Given the description of an element on the screen output the (x, y) to click on. 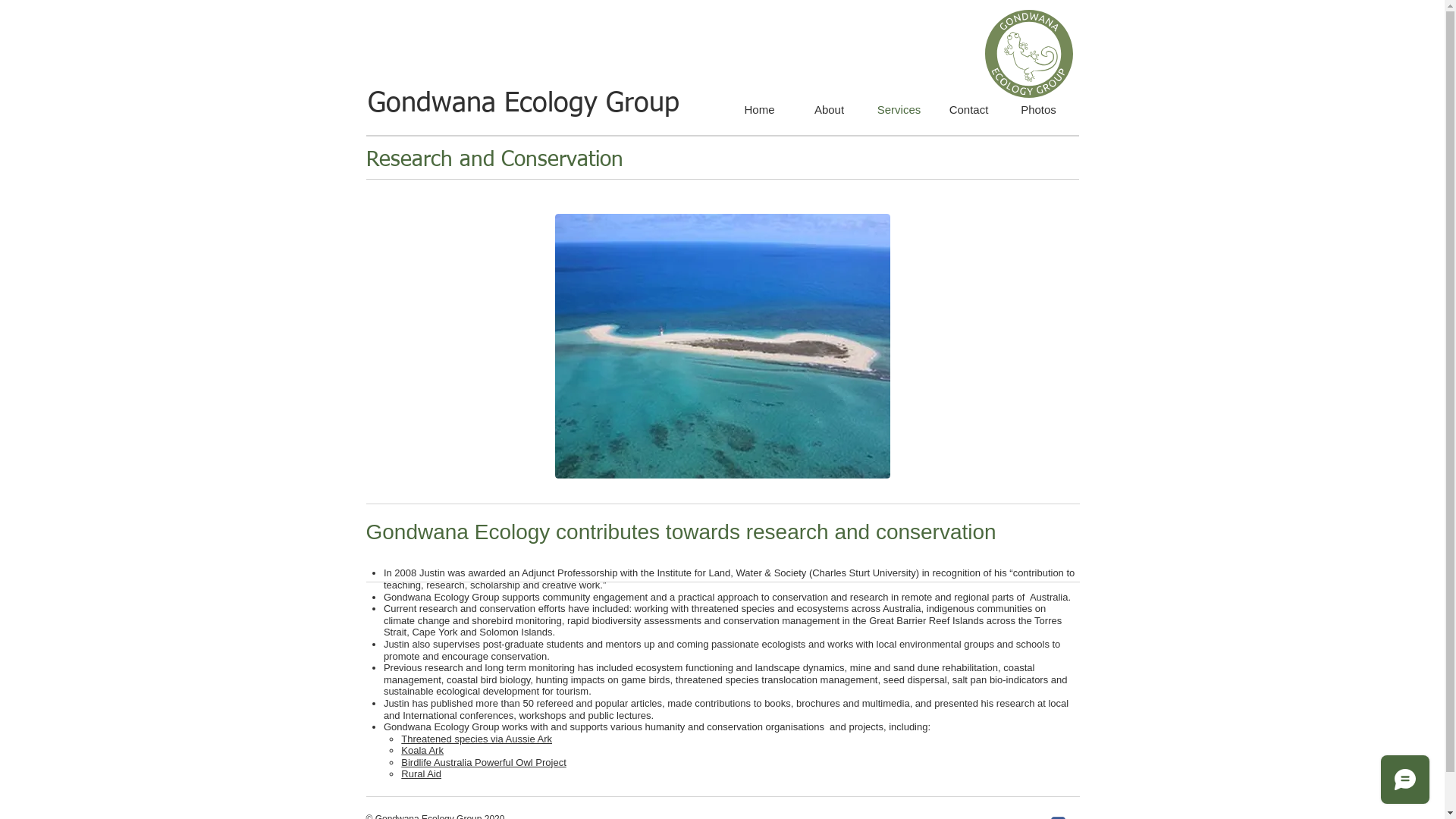
Contact Element type: text (969, 109)
Threatened species via Aussie Ark Element type: text (476, 738)
Rural Aid Element type: text (421, 773)
Home Element type: text (759, 109)
Koala Ark Element type: text (422, 750)
Services Element type: text (899, 109)
About Element type: text (829, 109)
Photos Element type: text (1038, 109)
Birdlife Australia Powerful Owl Project Element type: text (483, 762)
